Given the description of an element on the screen output the (x, y) to click on. 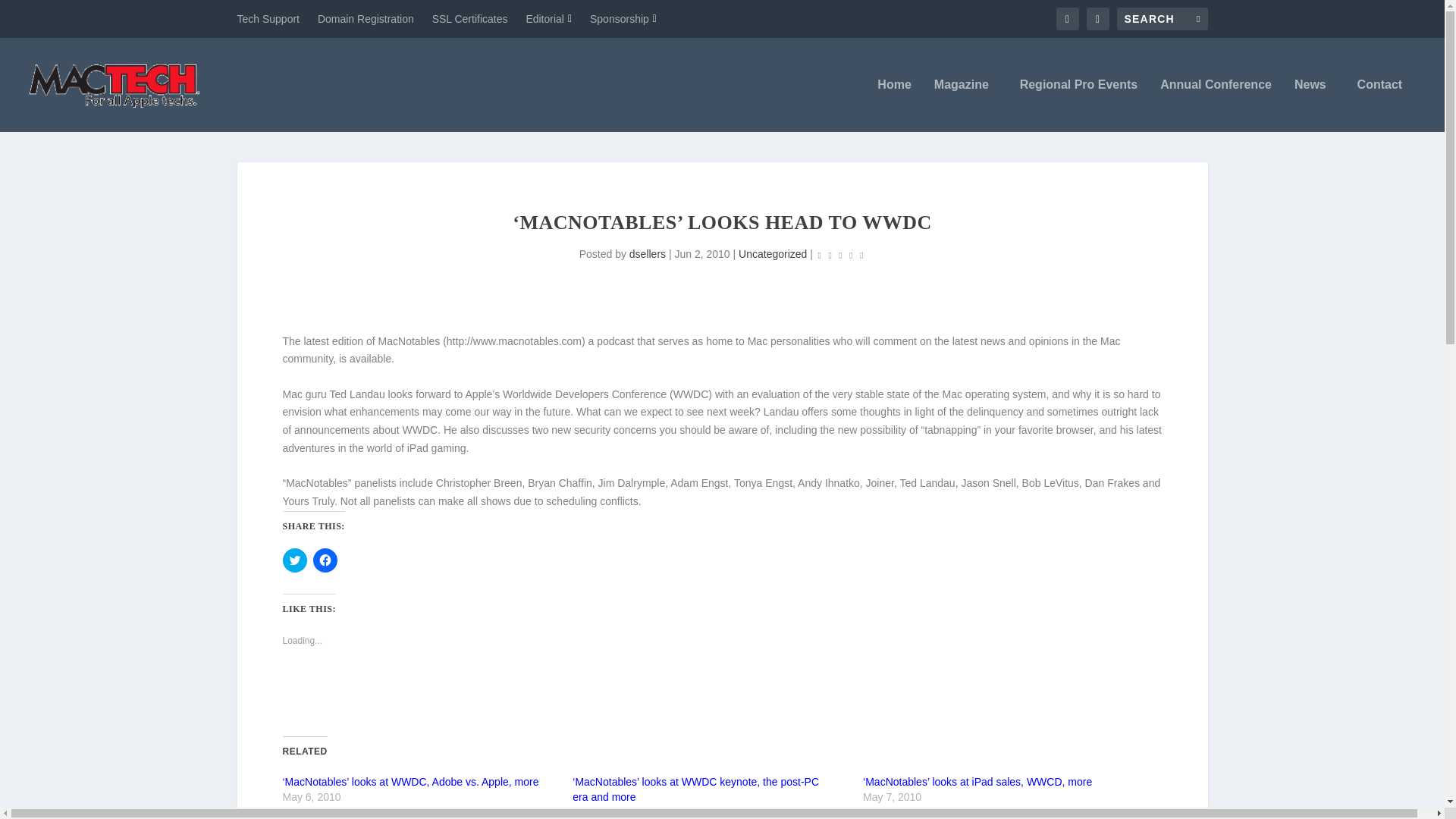
Search for: (1161, 18)
Sponsorship (622, 18)
Editorial (548, 18)
Regional Pro Events (1079, 104)
Magazine (965, 104)
Click to share on Facebook (324, 559)
Rating: 0.00 (840, 254)
Contact (1383, 104)
Posts by dsellers (646, 254)
Like or Reblog (721, 693)
